Given the description of an element on the screen output the (x, y) to click on. 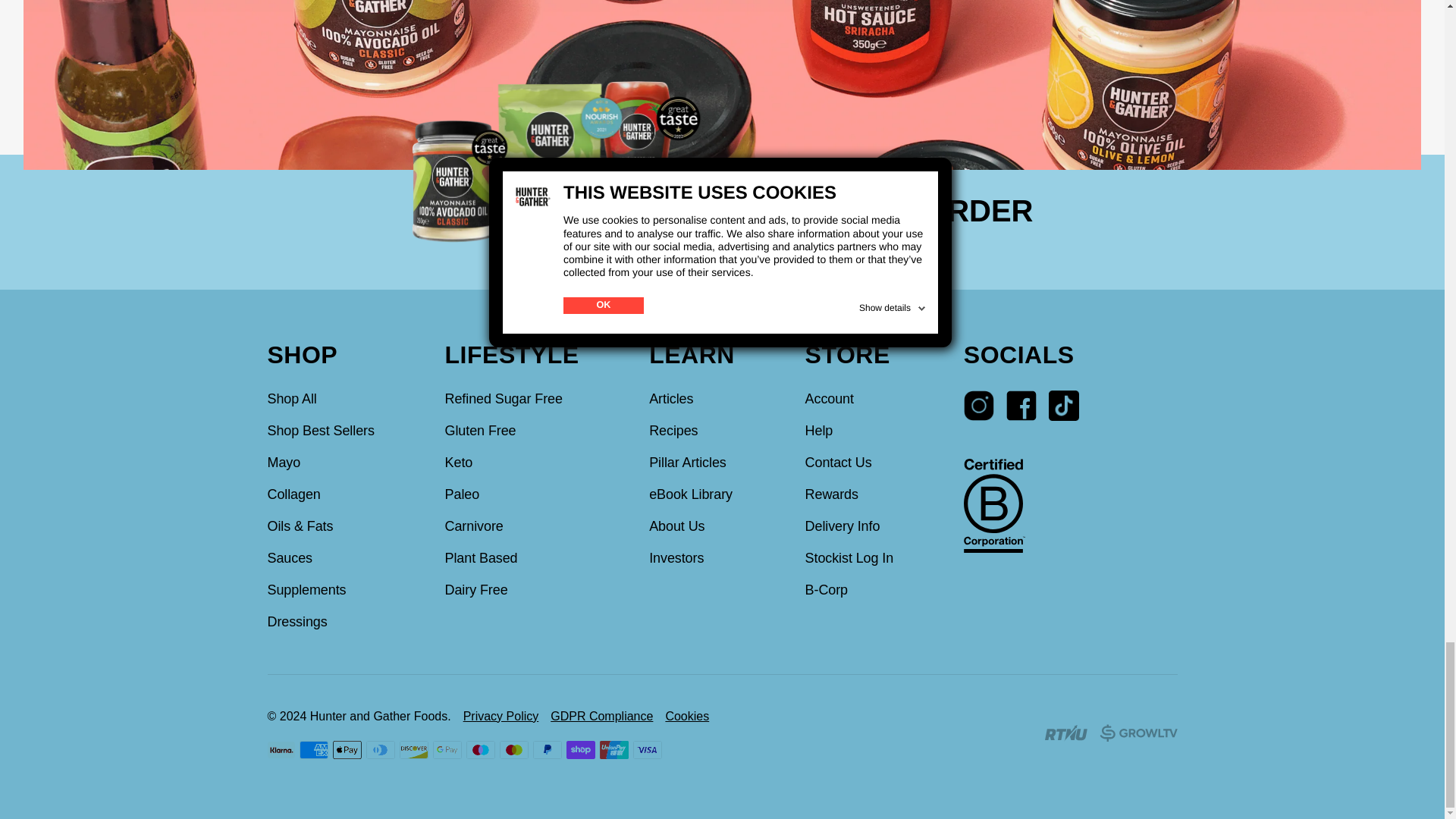
Discover (413, 750)
American Express (312, 750)
Mastercard (513, 750)
Union Pay (612, 750)
Apple Pay (346, 750)
Klarna (280, 750)
Maestro (480, 750)
Diners Club (379, 750)
Google Pay (446, 750)
Shop Pay (580, 750)
PayPal (546, 750)
